Given the description of an element on the screen output the (x, y) to click on. 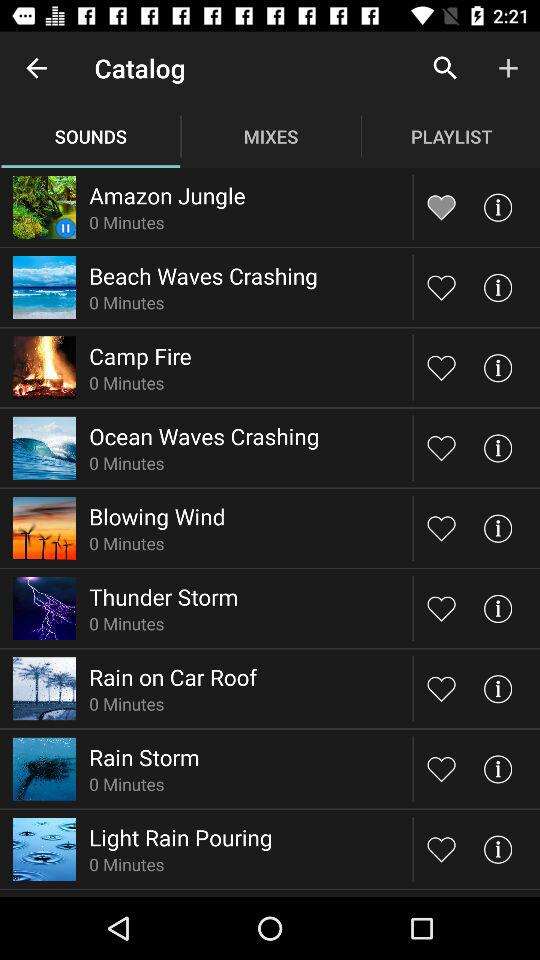
add to favorites (441, 527)
